Given the description of an element on the screen output the (x, y) to click on. 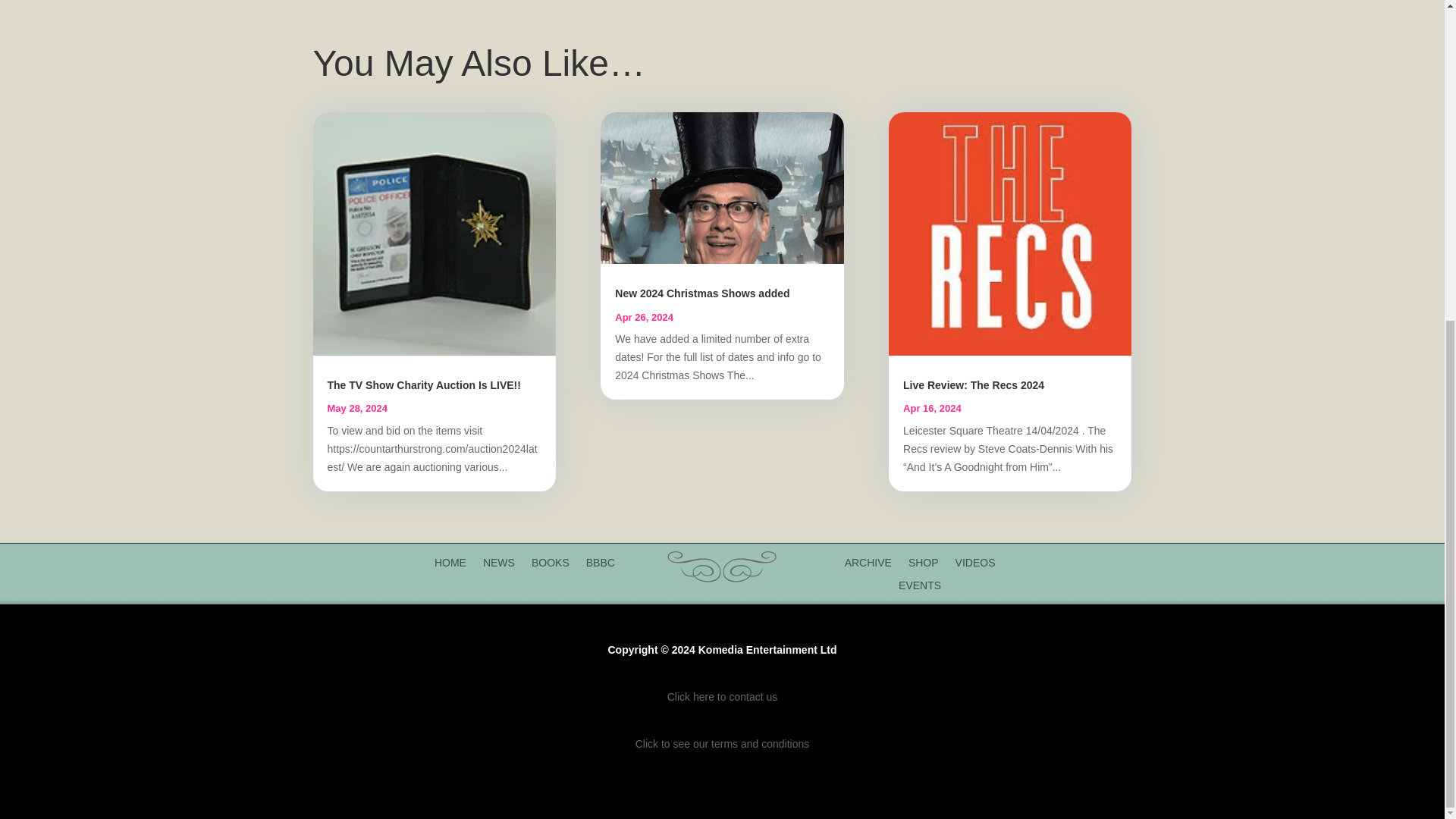
SHOP (923, 565)
Header Scroll (721, 566)
BBBC (600, 565)
New 2024 Christmas Shows added (701, 293)
NEWS (499, 565)
The TV Show Charity Auction Is LIVE!! (424, 385)
Live Review: The Recs 2024 (972, 385)
HOME (449, 565)
BOOKS (550, 565)
HOME (449, 565)
EVENTS (919, 588)
VIDEOS (975, 565)
ARCHIVE (867, 565)
